Given the description of an element on the screen output the (x, y) to click on. 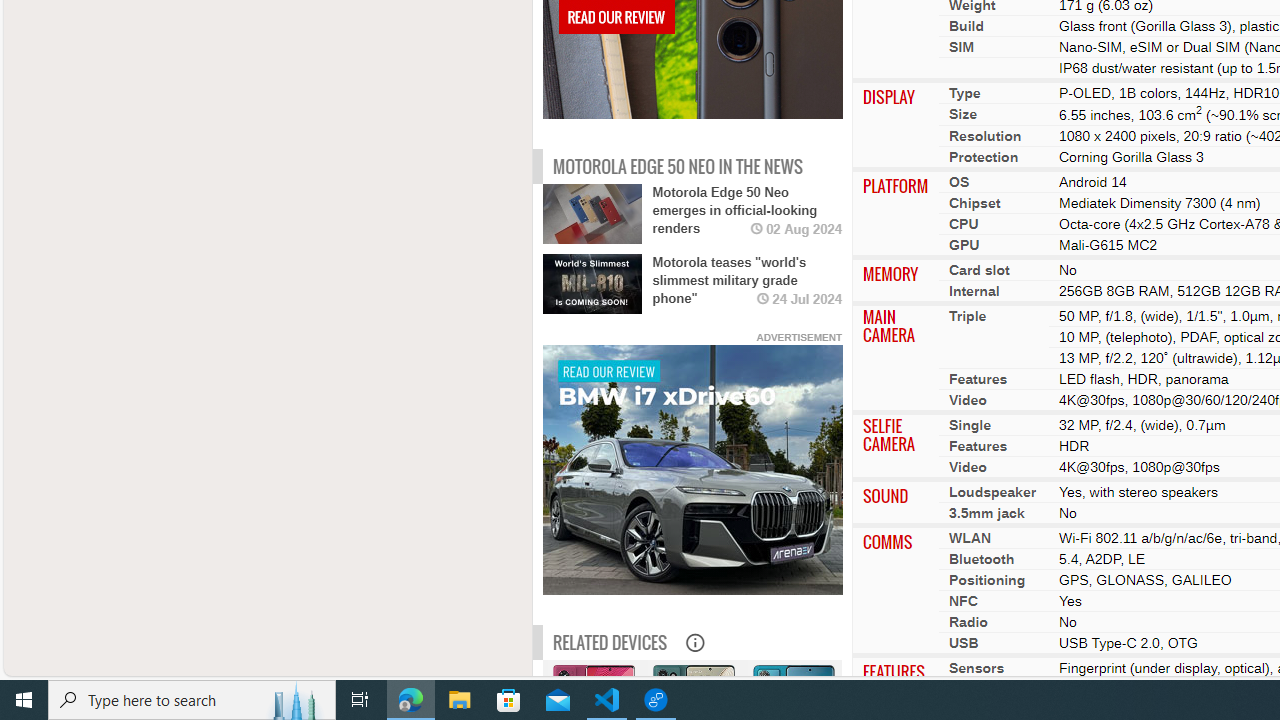
Sensors (976, 667)
Internal (973, 290)
Loudspeaker (992, 491)
USB (963, 642)
3.5mm jack (986, 512)
Protection (983, 156)
MOTOROLA EDGE 50 NEO IN THE NEWS (677, 166)
Video (967, 466)
WLAN (969, 537)
GPU (964, 244)
OS (959, 181)
Single (970, 424)
Radio (968, 621)
